Given the description of an element on the screen output the (x, y) to click on. 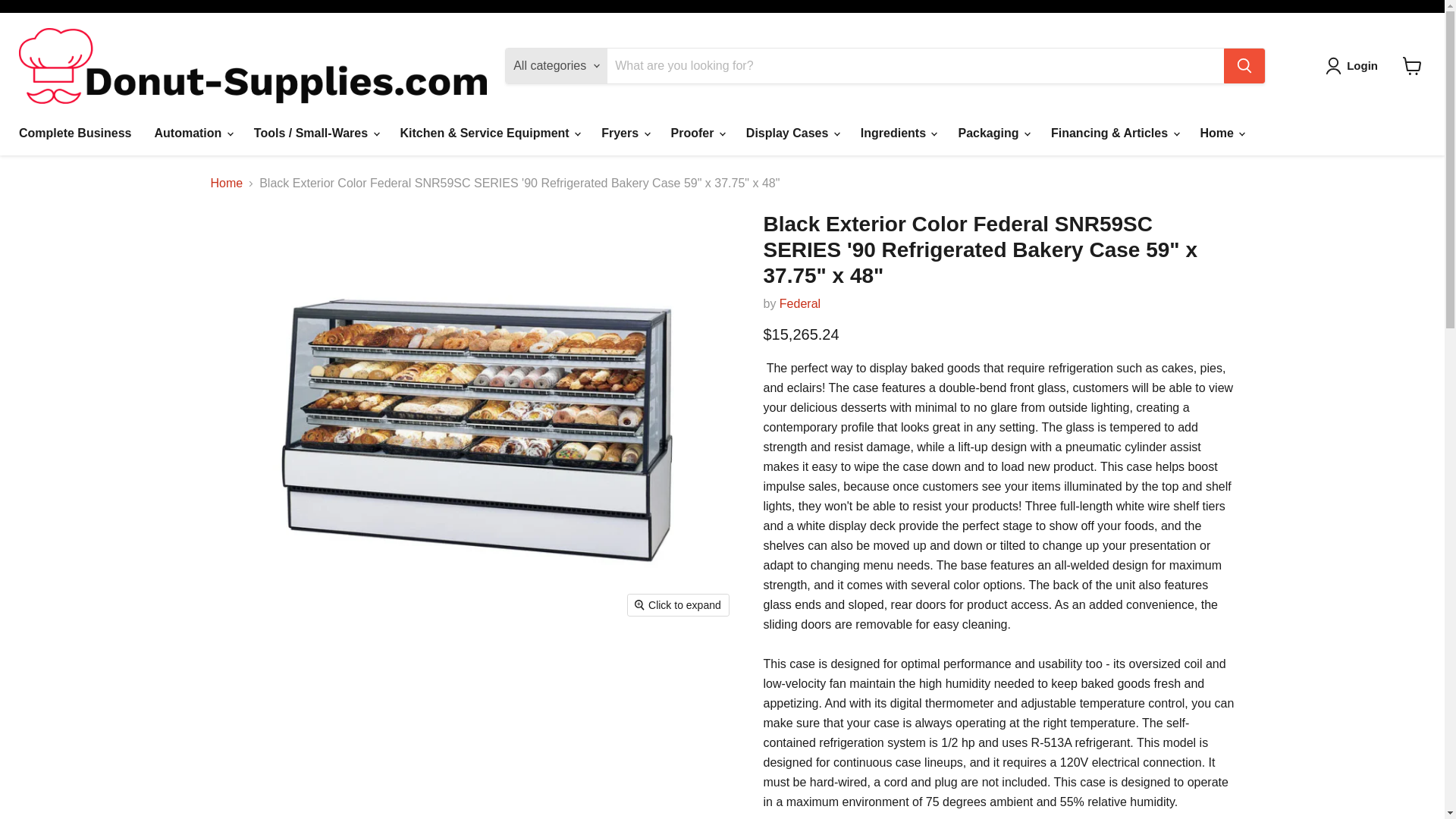
Login (1354, 65)
View cart (1411, 65)
Federal (799, 303)
Complete Business (74, 133)
